Given the description of an element on the screen output the (x, y) to click on. 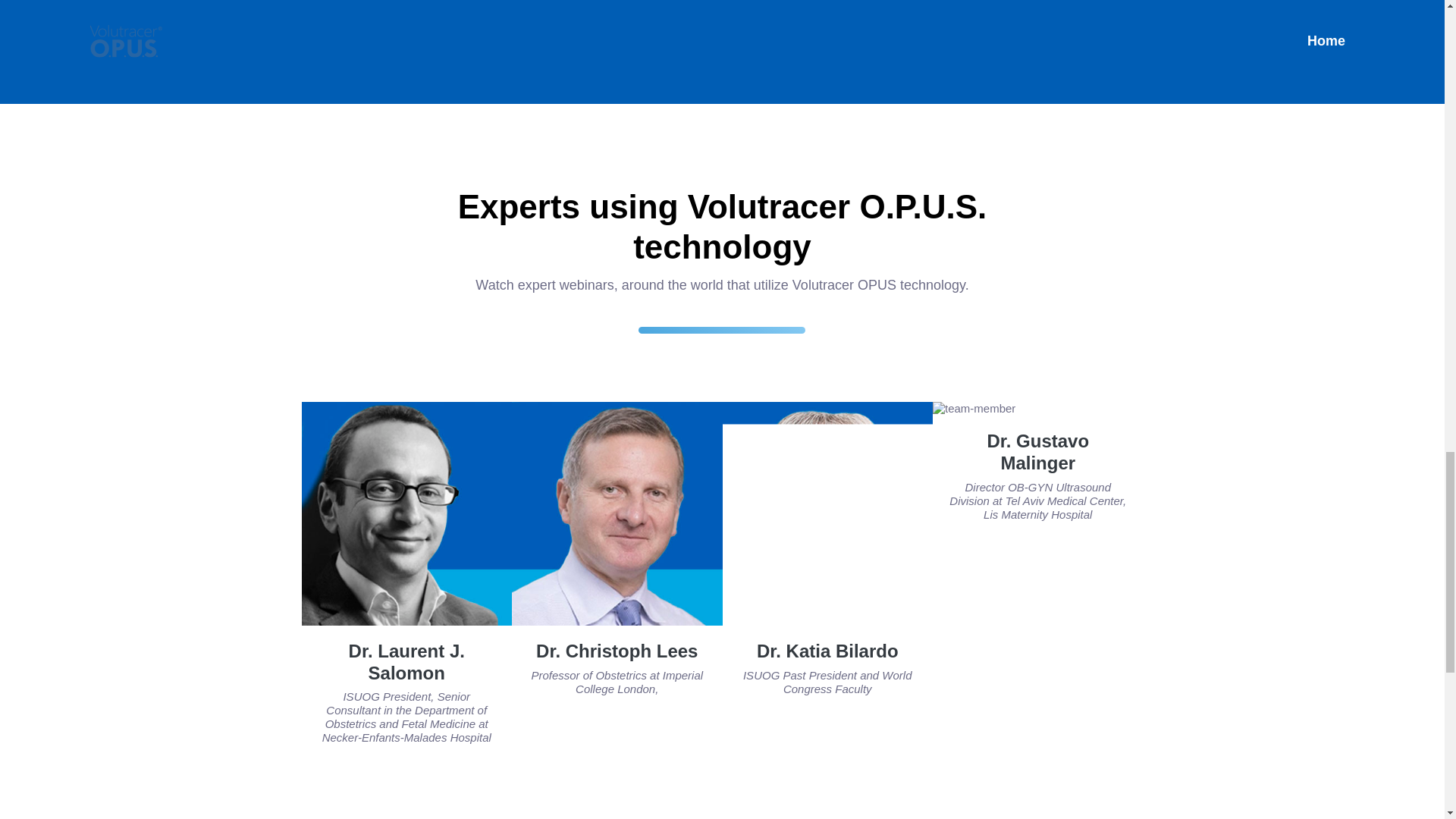
Dr. Gustavo Malinger (1038, 451)
Dr. Christoph Lees (616, 650)
Dr. Laurent J. Salomon (406, 661)
Dr. Katia Bilardo (827, 650)
